Given the description of an element on the screen output the (x, y) to click on. 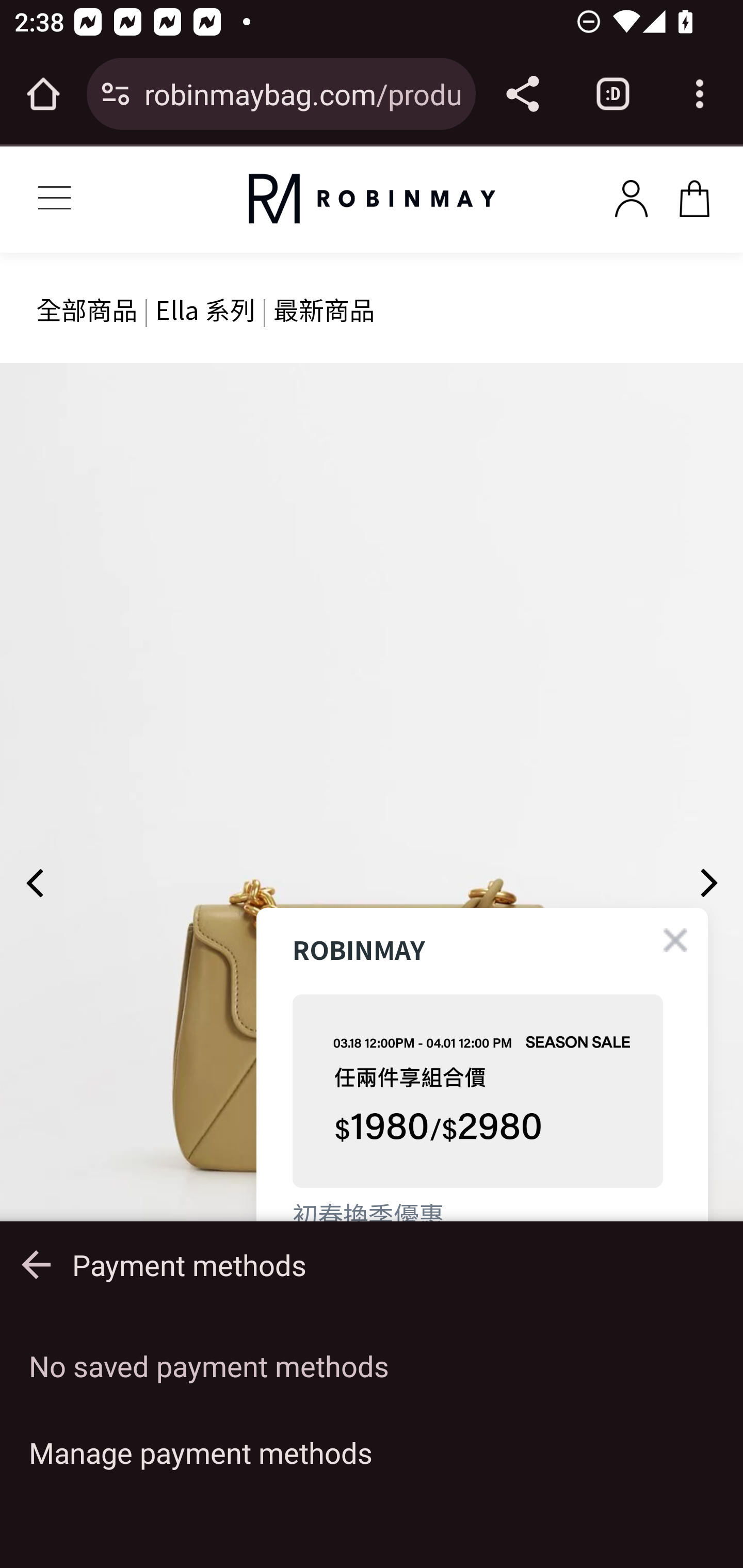
Open the home page (43, 93)
Connection is secure (115, 93)
Share (522, 93)
Switch or close tabs (612, 93)
Customize and control Google Chrome (699, 93)
original (371, 199)
x100 (631, 195)
x100 (694, 195)
全部商品 (86, 308)
Ella 系列 (205, 308)
最新商品 (323, 308)
Show keyboard Payment methods (371, 1264)
Show keyboard (36, 1264)
Manage payment methods (371, 1452)
